Given the description of an element on the screen output the (x, y) to click on. 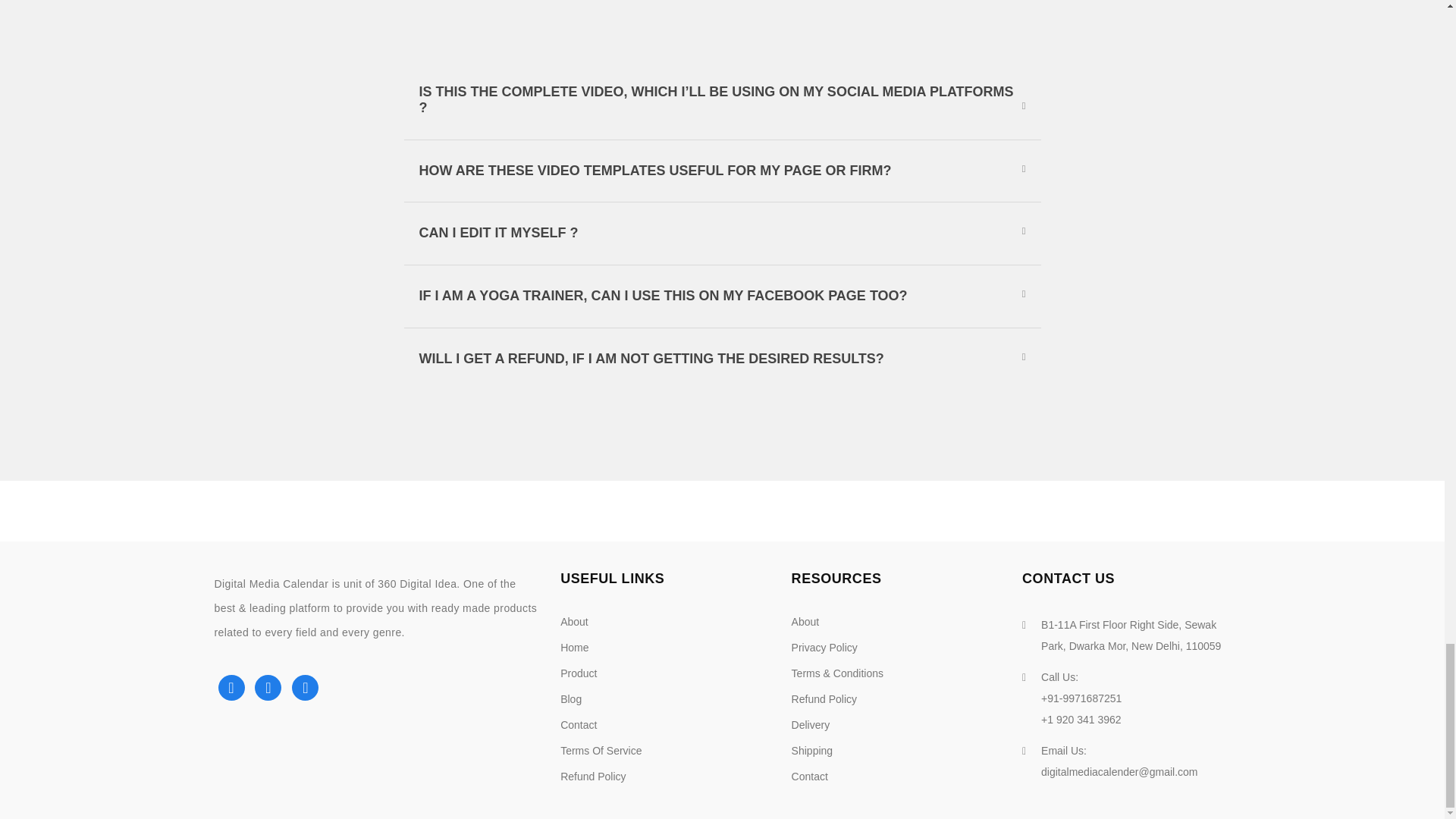
Blog (570, 698)
Home (574, 647)
About (574, 621)
Product (578, 673)
